Given the description of an element on the screen output the (x, y) to click on. 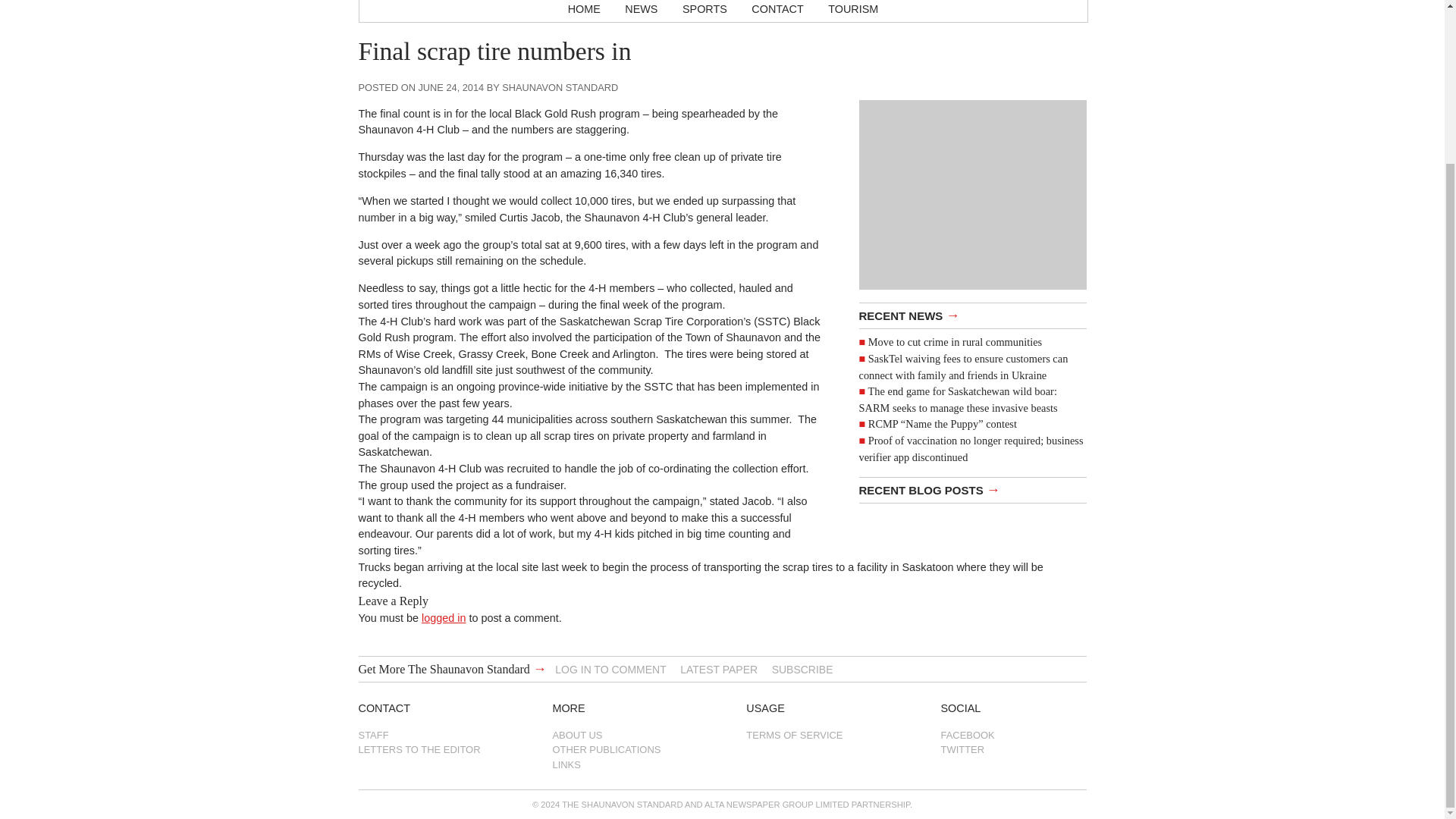
FACEBOOK (1013, 735)
STAFF (430, 735)
CONTACT (777, 11)
ABOUT US (624, 735)
logged in (443, 617)
HOME (584, 11)
NEWS (641, 11)
LOG IN TO COMMENT (610, 669)
LETTERS TO THE EDITOR (430, 749)
SUBSCRIBE (801, 669)
TERMS OF SERVICE (818, 735)
SPORTS (704, 11)
